Given the description of an element on the screen output the (x, y) to click on. 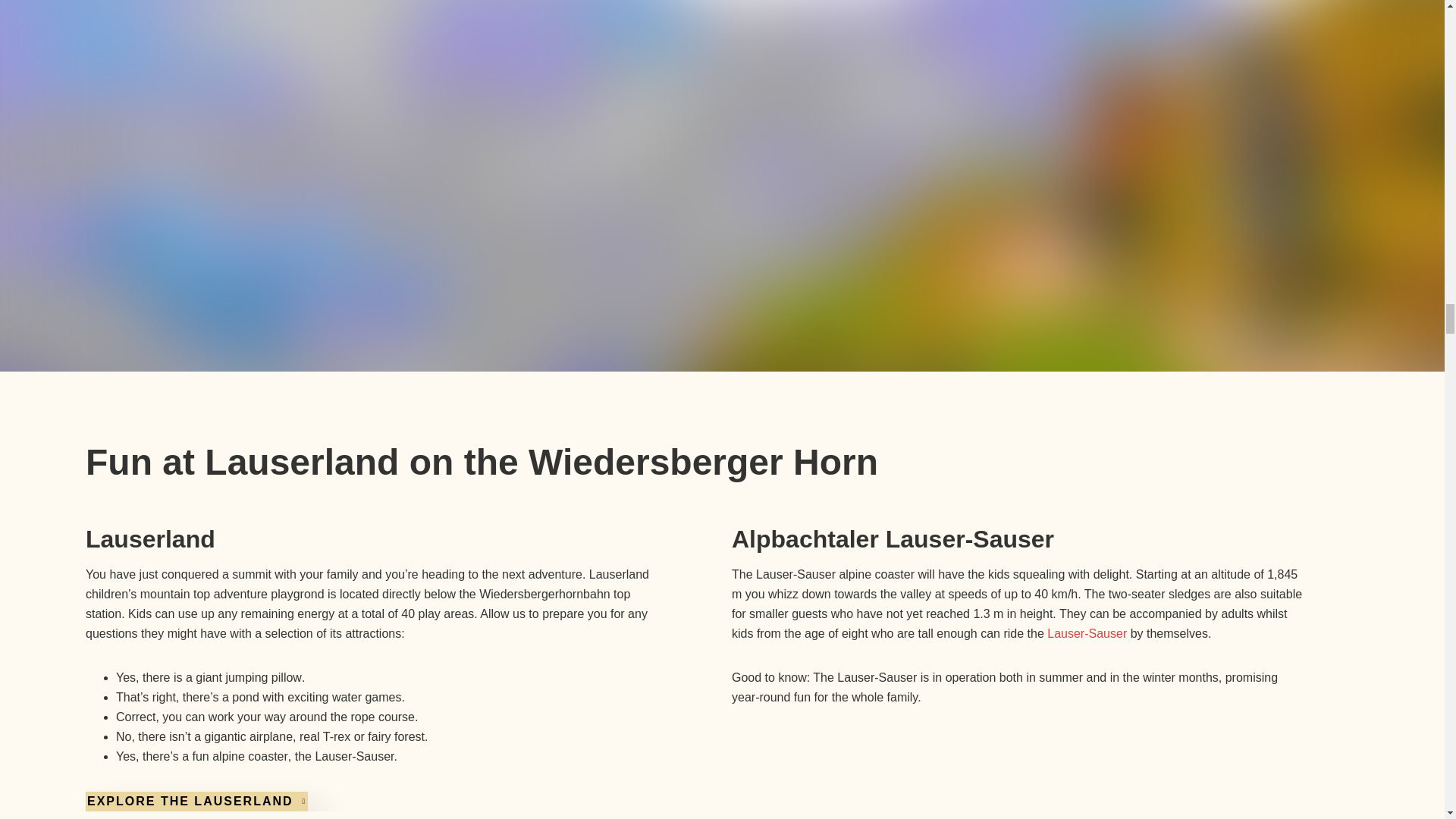
EXPLORE THE LAUSERLAND (195, 801)
Lauser-Sauser (1086, 633)
